Given the description of an element on the screen output the (x, y) to click on. 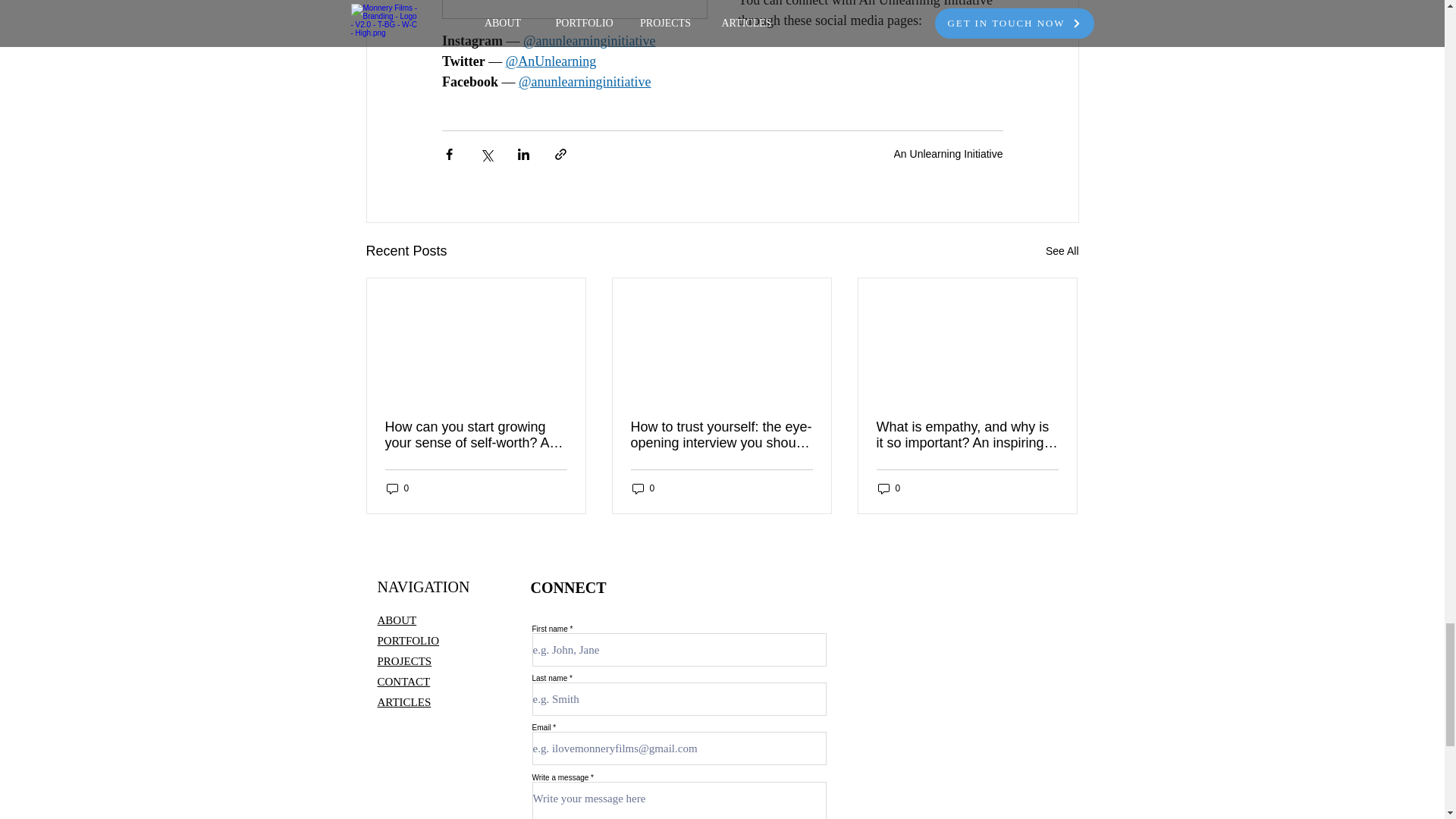
0 (397, 487)
See All (1061, 251)
0 (643, 487)
An Unlearning Initiative (948, 152)
